Given the description of an element on the screen output the (x, y) to click on. 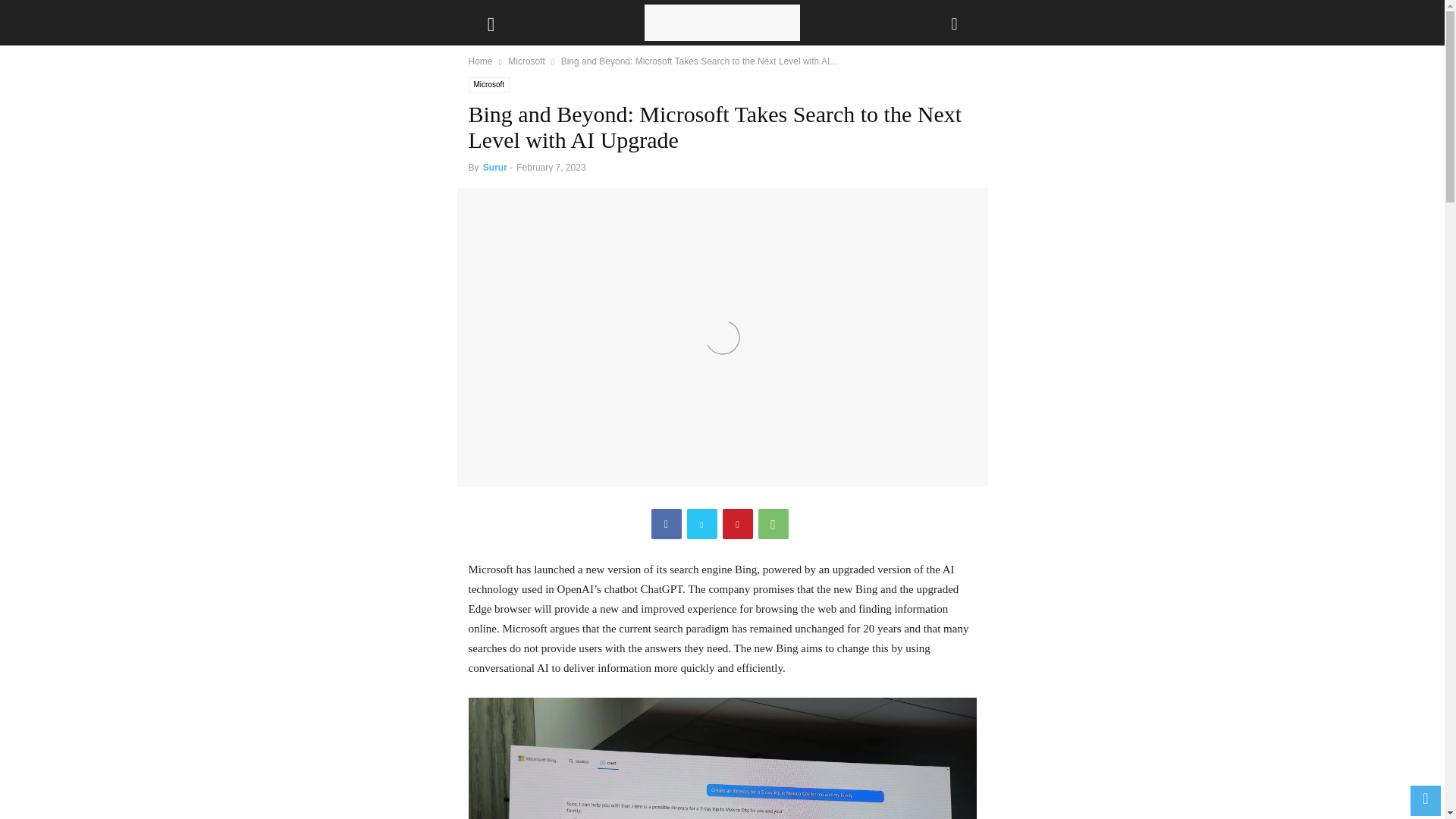
Microsoft (526, 61)
WhatsApp (773, 523)
Facebook (665, 523)
View all posts in Microsoft (526, 61)
Microsoft (489, 84)
BigTechWire (722, 22)
Pinterest (737, 523)
Twitter (702, 523)
Surur (494, 167)
